Given the description of an element on the screen output the (x, y) to click on. 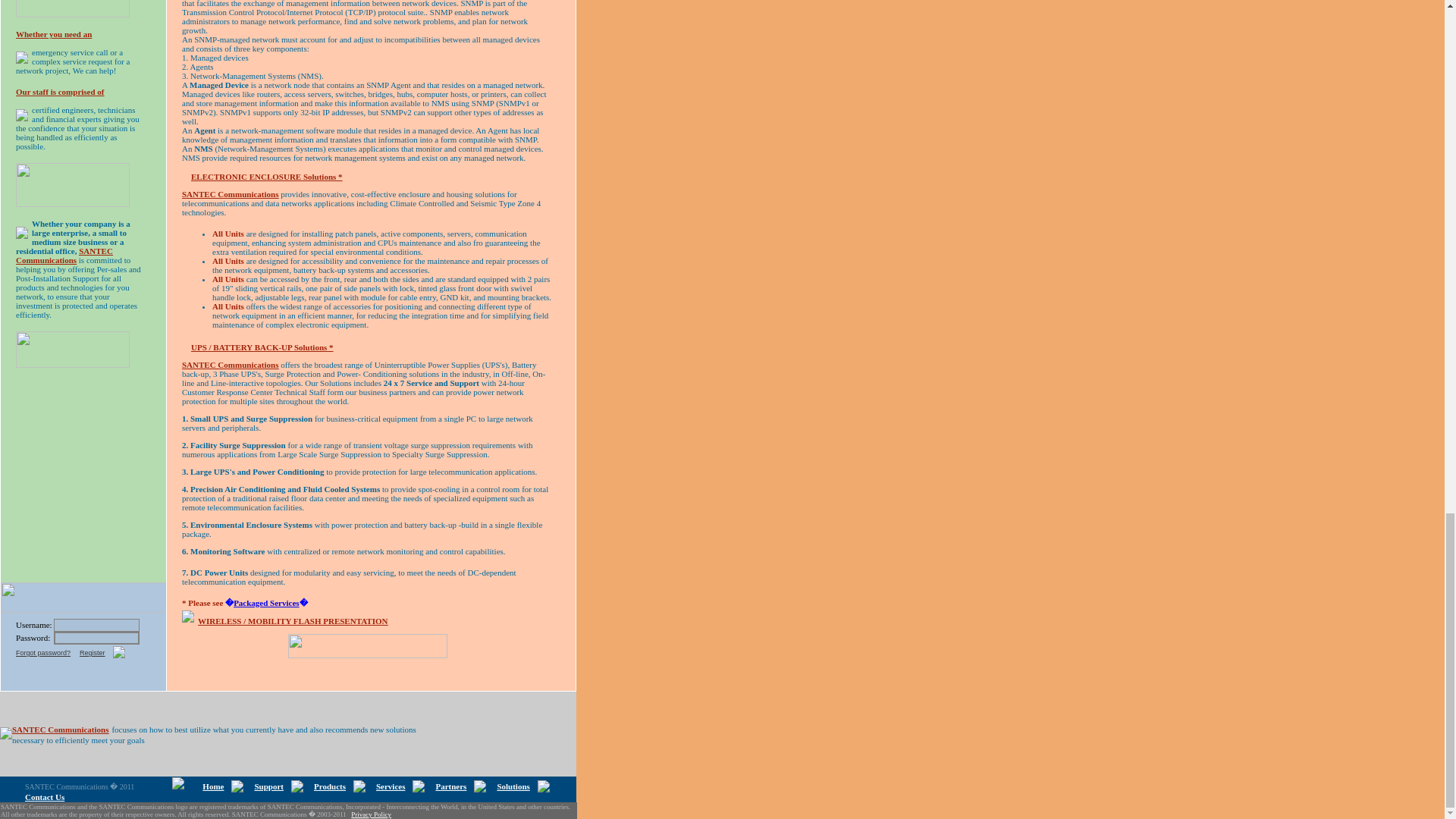
SANTEC Communications (64, 254)
Contact Us (44, 796)
Services (389, 786)
Support (268, 786)
SANTEC Communications (230, 194)
Solutions (512, 786)
Privacy Policy (370, 814)
SANTEC Communications (230, 364)
Products (330, 786)
SANTEC Communications (59, 727)
